Given the description of an element on the screen output the (x, y) to click on. 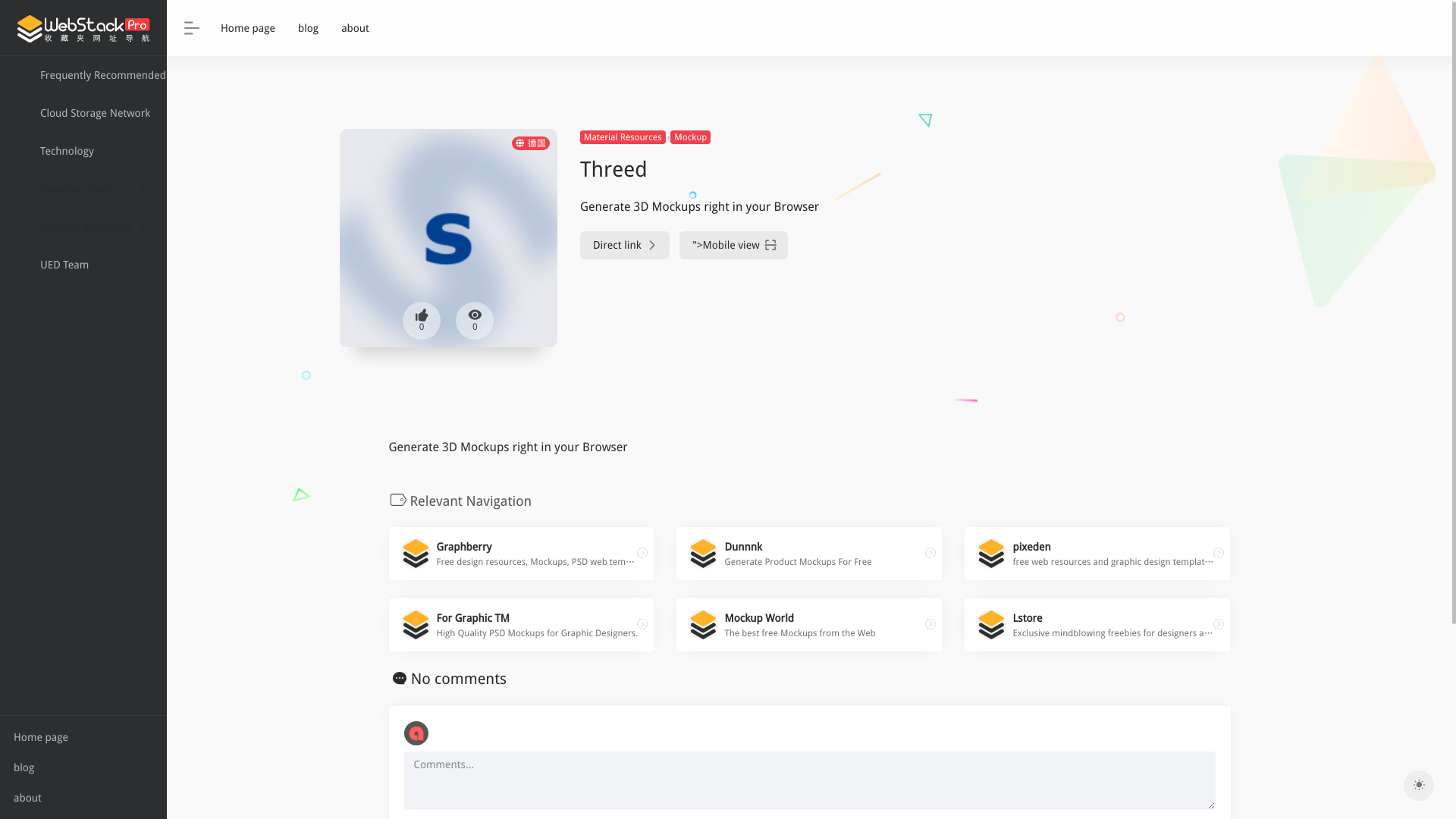
Mockup (689, 137)
Direct link (930, 624)
Home page (83, 736)
about (83, 797)
0 (422, 320)
Home page (809, 553)
Direct link (247, 27)
Direct link (1218, 553)
Common Tools (930, 553)
